Given the description of an element on the screen output the (x, y) to click on. 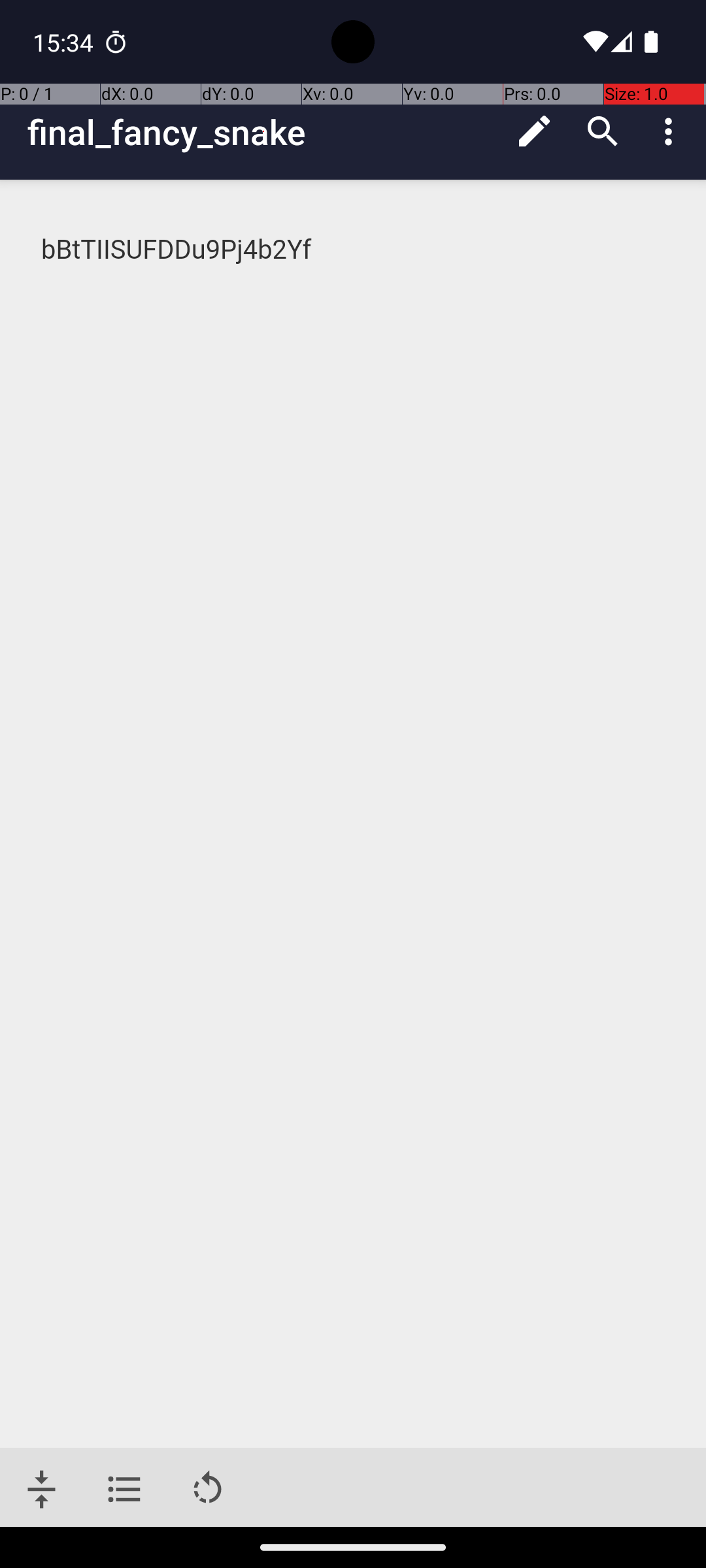
final_fancy_snake Element type: android.widget.TextView (263, 131)
bBtTIISUFDDu9Pj4b2Yf Element type: android.widget.TextView (354, 249)
